Given the description of an element on the screen output the (x, y) to click on. 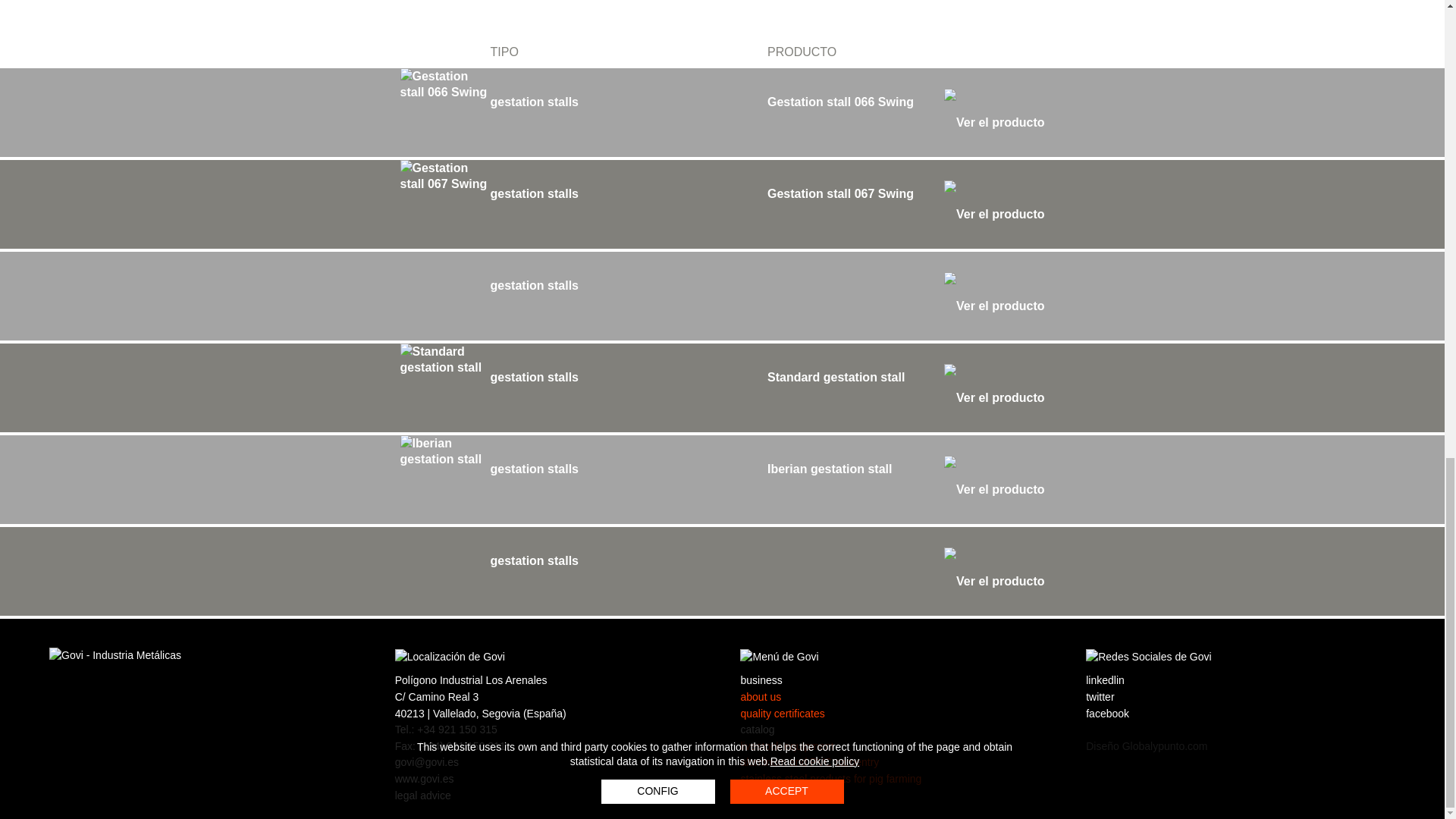
Gestation stall 067 Swing (906, 203)
Iberian gestation stall (906, 479)
Standard gestation stall (906, 387)
legal advice (422, 795)
Gestation stall 066 Swing (906, 112)
www.govi.es (424, 778)
